Given the description of an element on the screen output the (x, y) to click on. 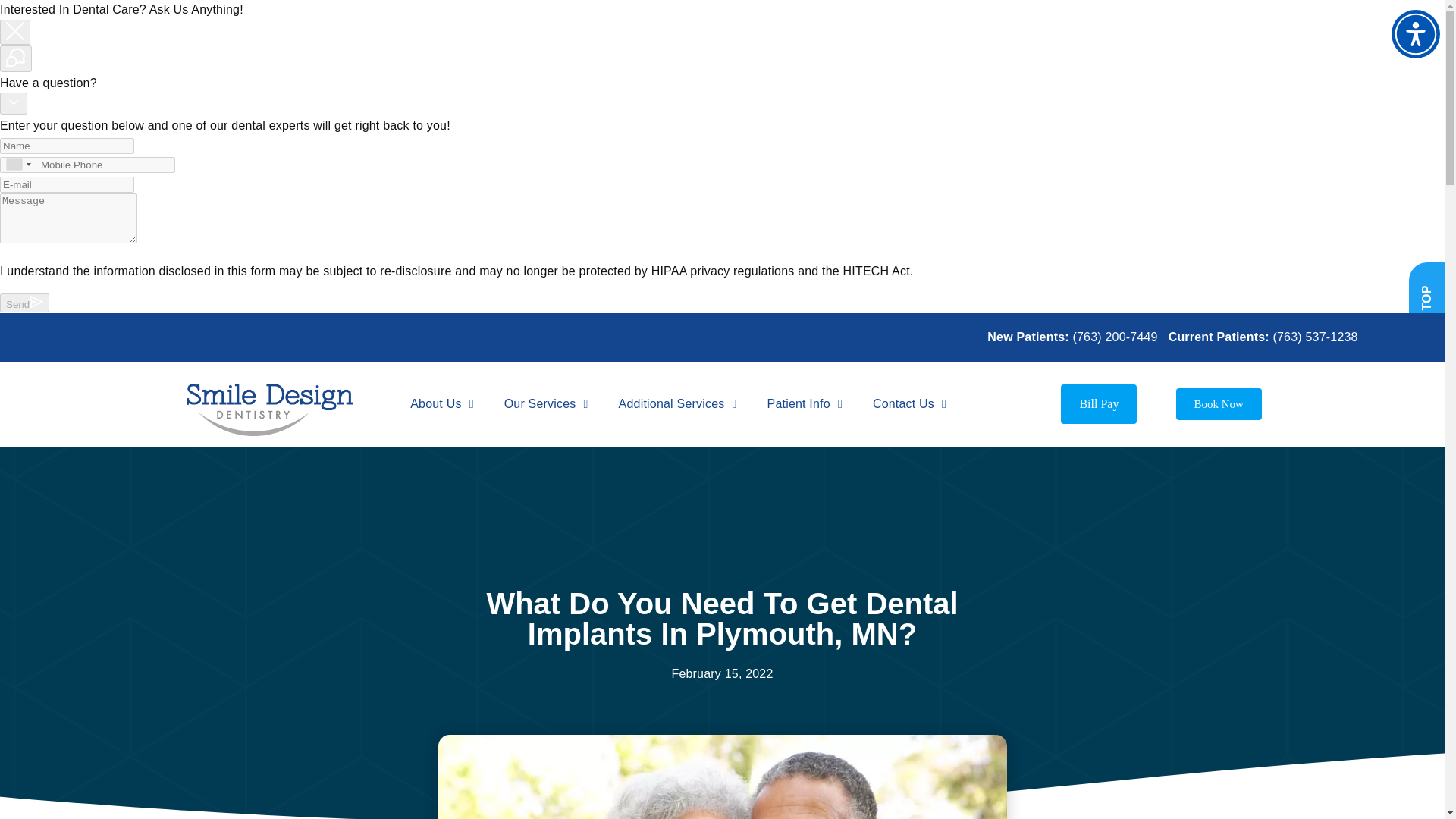
Accessibility Menu (1415, 33)
About Us (440, 403)
Bill Pay (1099, 404)
Our Services (546, 403)
